Given the description of an element on the screen output the (x, y) to click on. 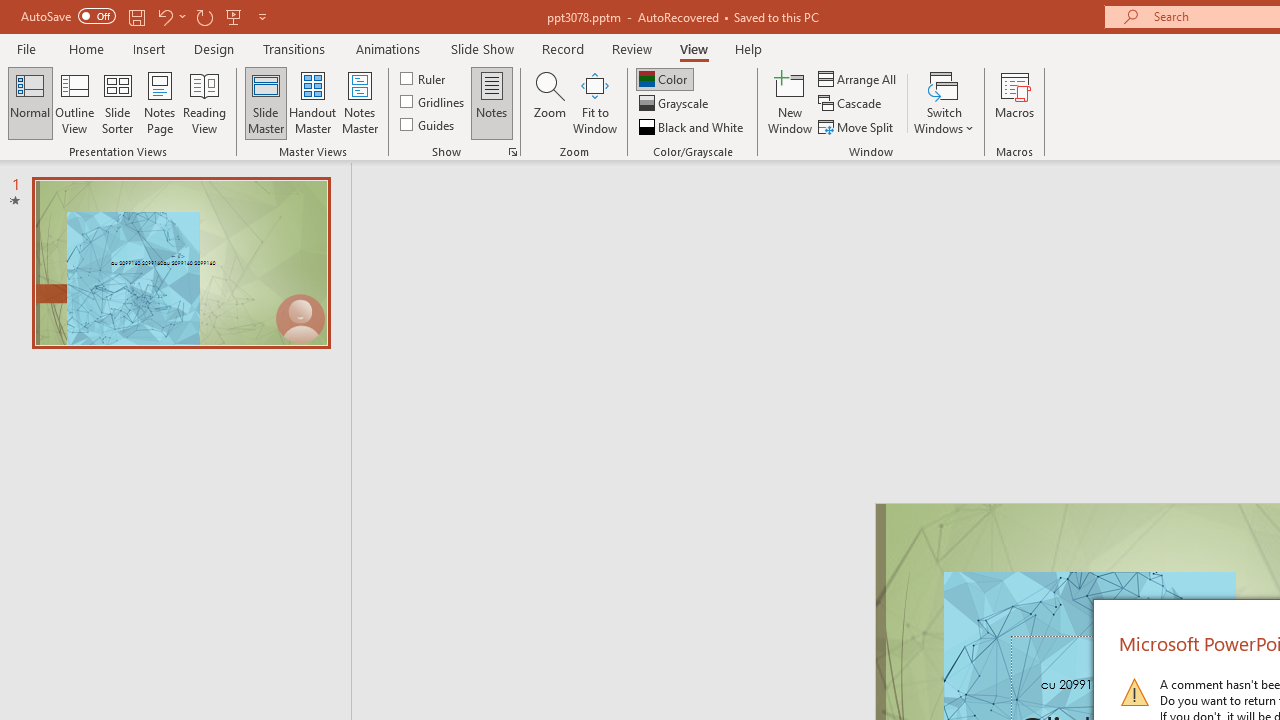
Help (748, 48)
Slide Sorter (118, 102)
Cascade (851, 103)
